Given the description of an element on the screen output the (x, y) to click on. 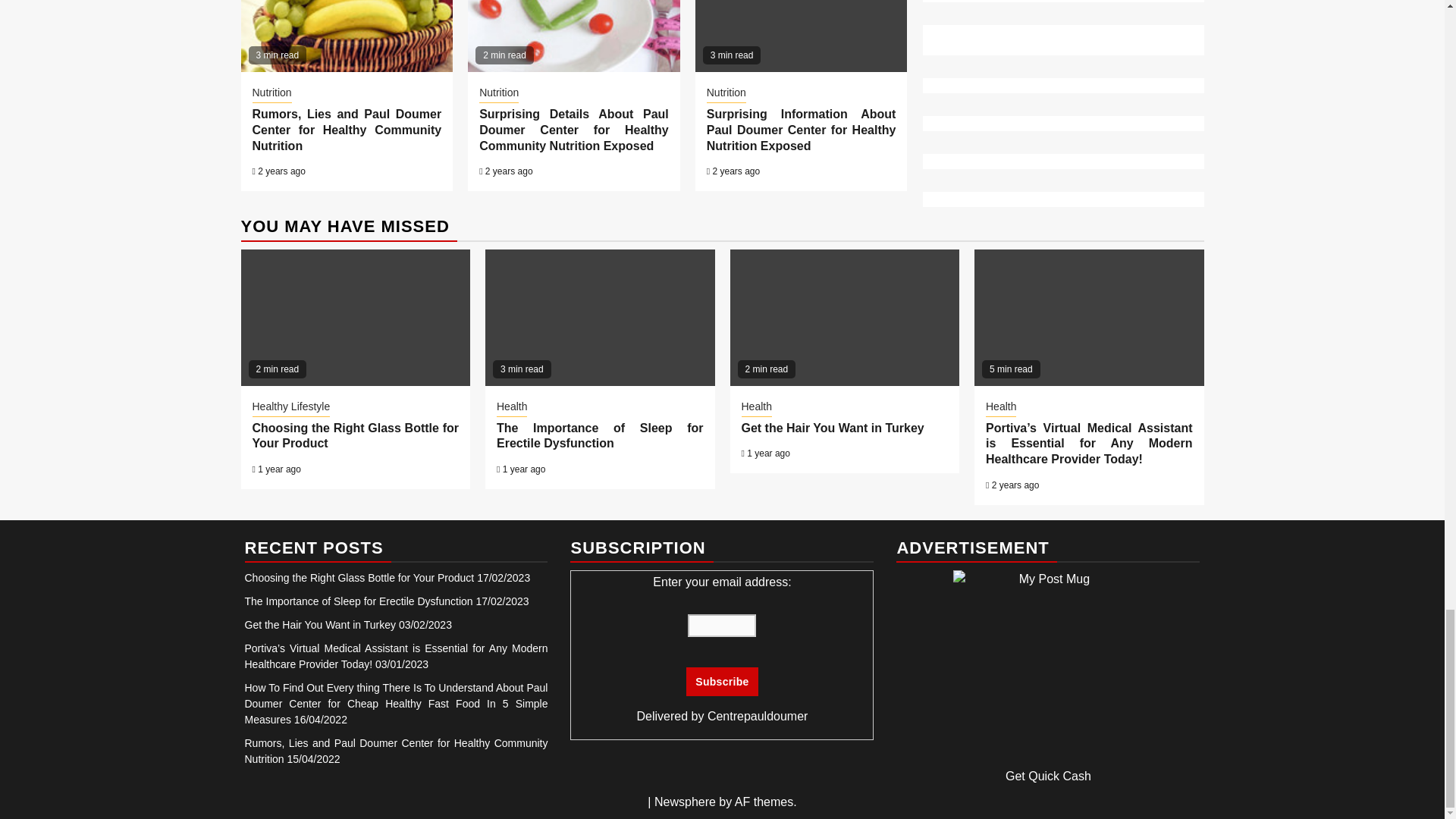
Nutrition (498, 94)
Nutrition (271, 94)
Subscribe (721, 681)
Nutrition (725, 94)
